Given the description of an element on the screen output the (x, y) to click on. 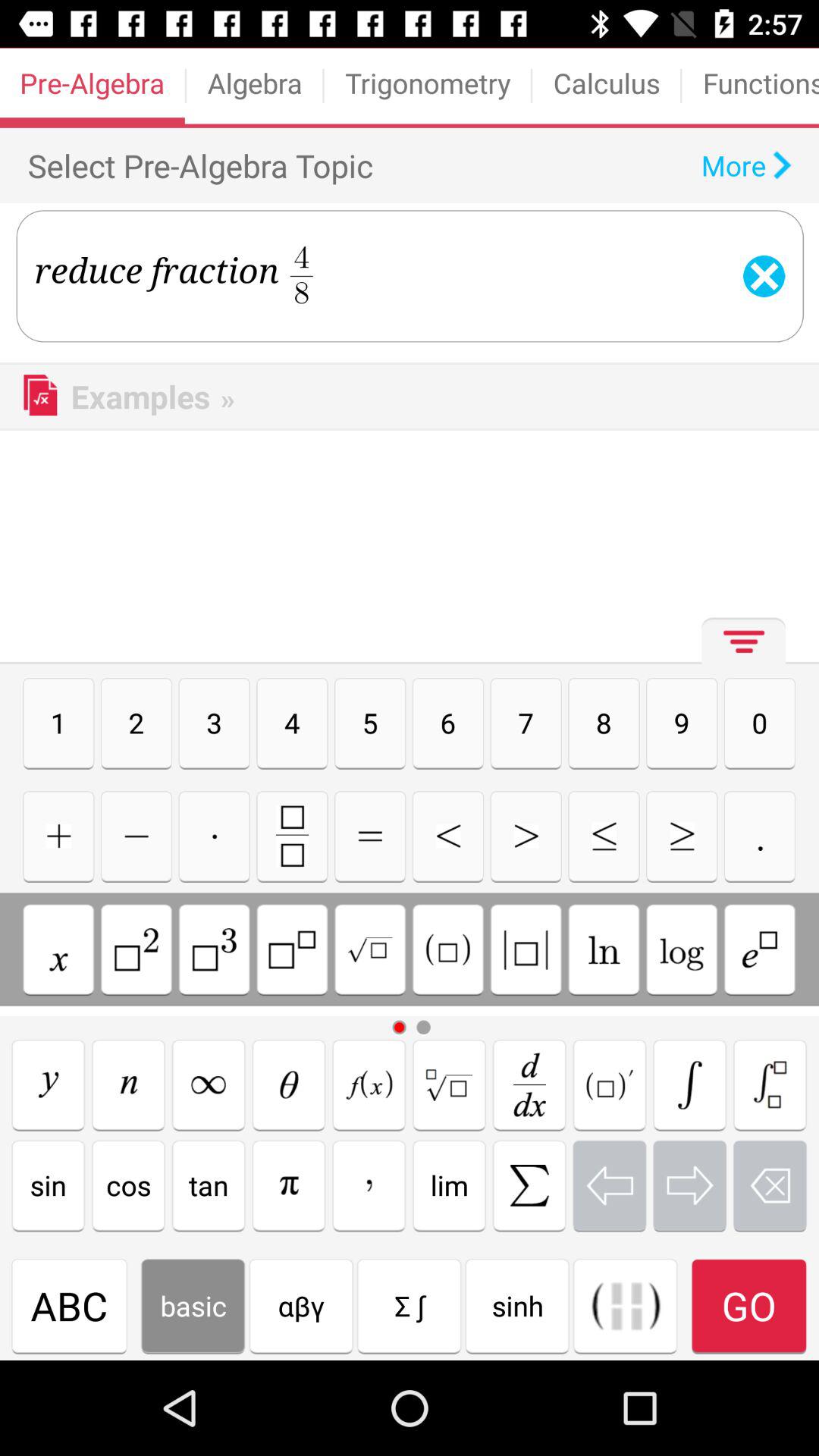
go forward (526, 835)
